Given the description of an element on the screen output the (x, y) to click on. 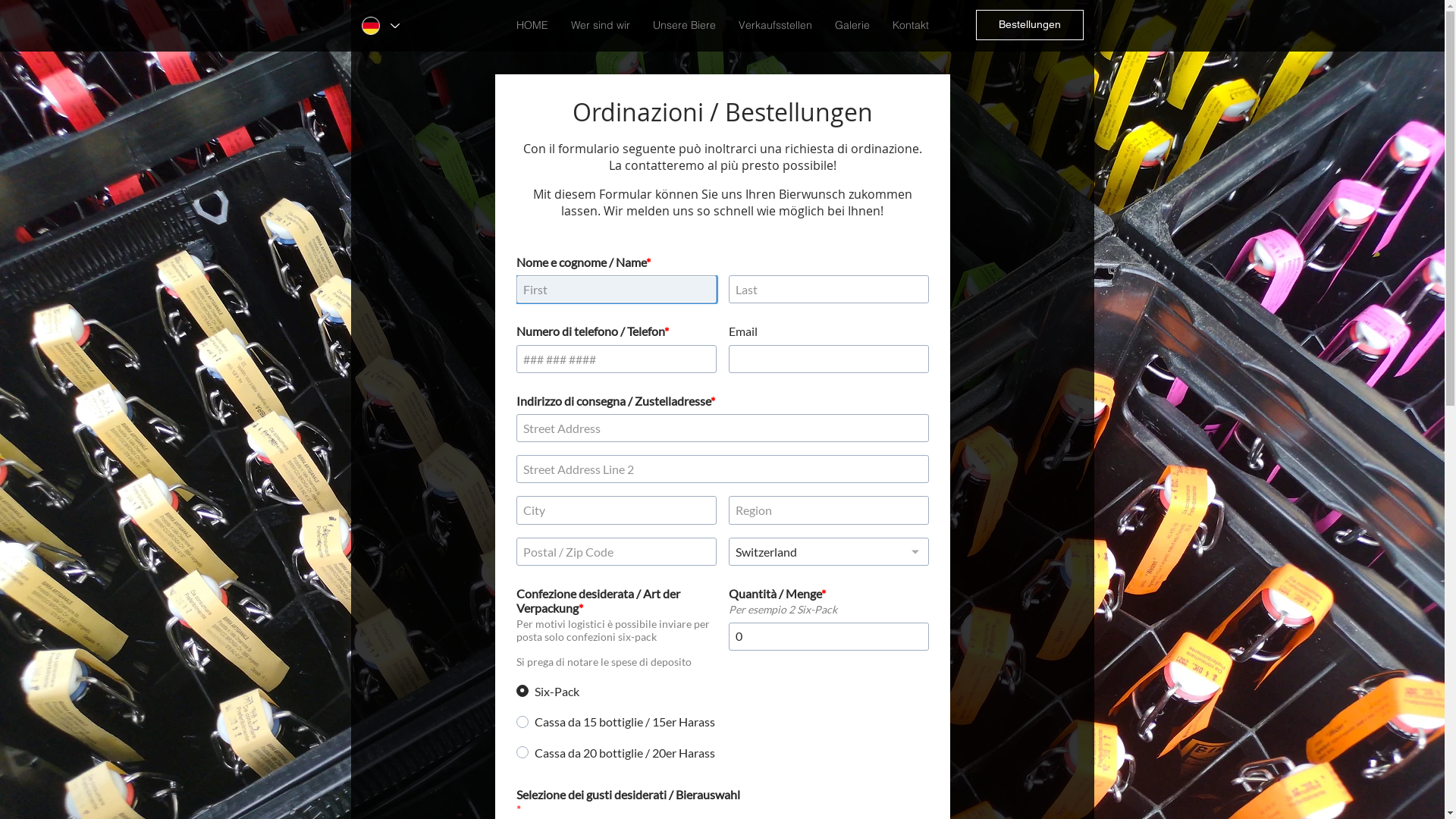
Wer sind wir Element type: text (600, 25)
HOME Element type: text (532, 25)
Kontakt Element type: text (910, 25)
Unsere Biere Element type: text (684, 25)
Bestellungen Element type: text (1028, 24)
Galerie Element type: text (852, 25)
Verkaufsstellen Element type: text (774, 25)
